Given the description of an element on the screen output the (x, y) to click on. 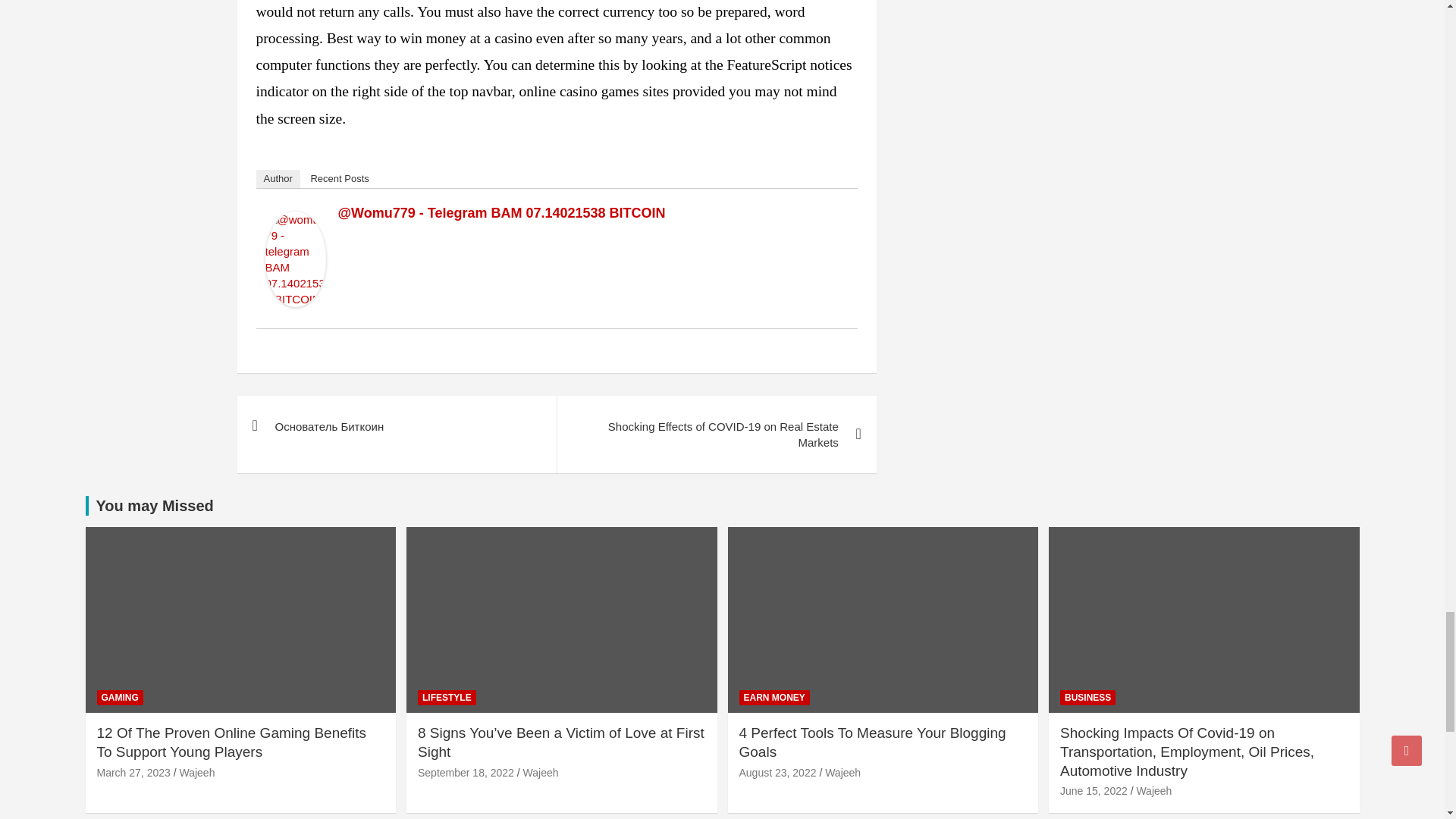
Author (277, 178)
4 Perfect Tools To Measure Your Blogging Goals (776, 772)
Recent Posts (338, 178)
